Given the description of an element on the screen output the (x, y) to click on. 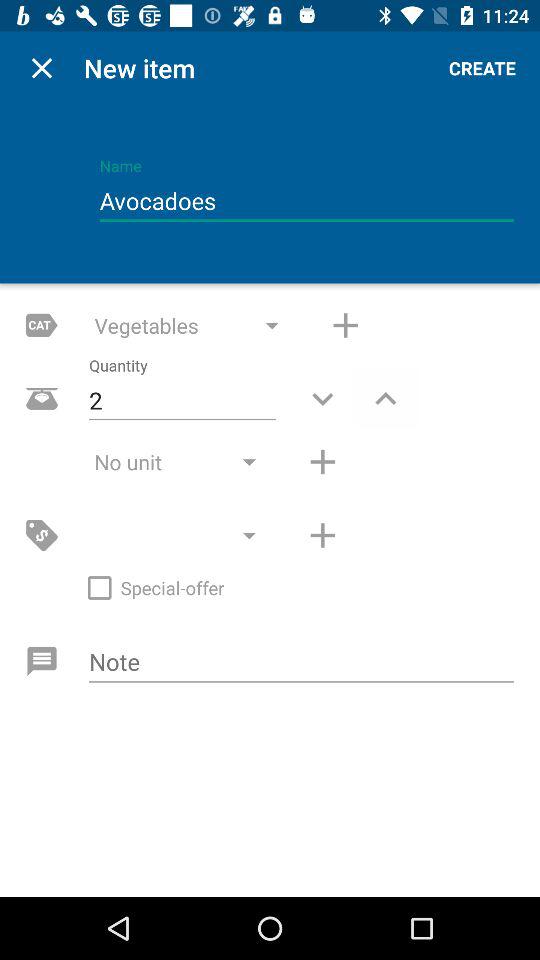
add unit amount (322, 462)
